Given the description of an element on the screen output the (x, y) to click on. 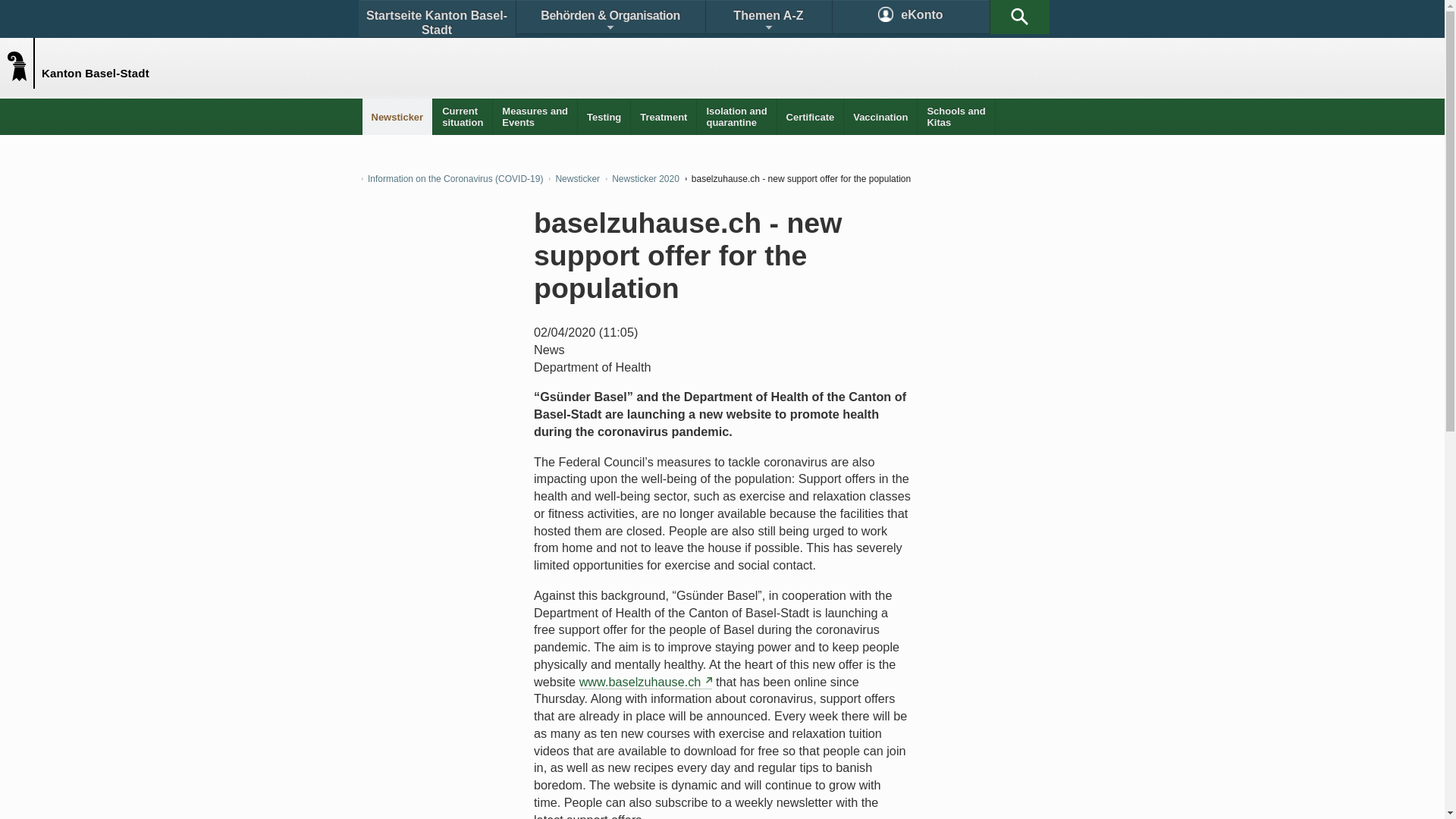
Isolation and
quarantine Element type: text (735, 116)
Startseite Kanton Basel-Stadt Element type: text (435, 18)
Testing Element type: text (603, 116)
Treatment Element type: text (663, 116)
Newsticker Element type: text (397, 116)
Vaccination Element type: text (880, 116)
Schools and
Kitas Element type: text (955, 116)
Certificate Element type: text (810, 116)
Measures and
Events Element type: text (534, 116)
Information on the Coronavirus (COVID-19) Element type: text (451, 178)
Current
situation Element type: text (462, 116)
Kanton Basel-Stadt Element type: text (24, 62)
Newsticker Element type: text (574, 178)
Newsticker 2020 Element type: text (408, 49)
Newsticker 2020 Element type: text (642, 178)
eKonto Element type: text (910, 17)
Themen A-Z Element type: text (768, 17)
www.baselzuhause.ch Element type: text (645, 681)
